Given the description of an element on the screen output the (x, y) to click on. 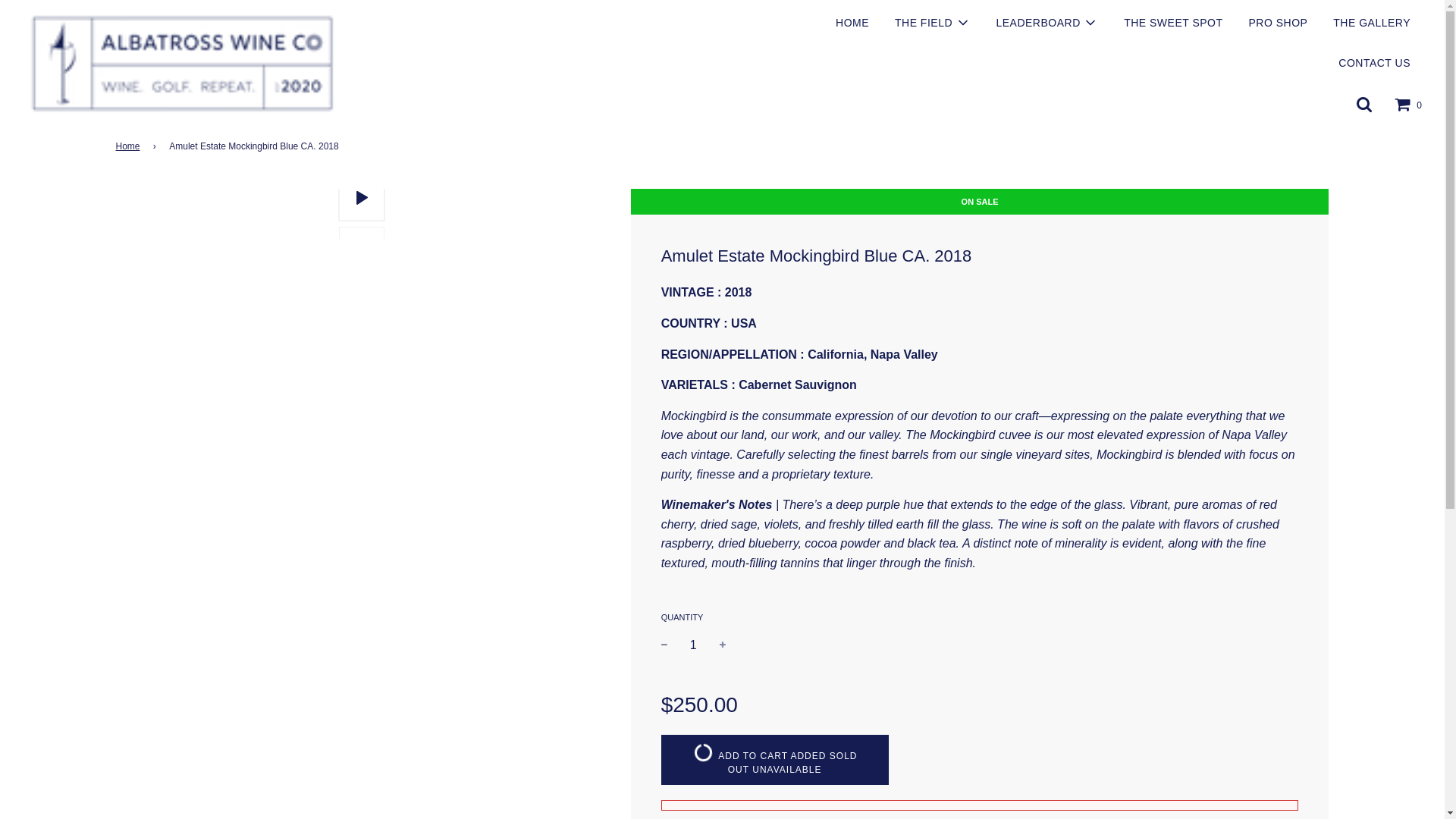
Home (774, 758)
THE GALLERY (129, 146)
THE FIELD (1372, 22)
Back to the frontpage (932, 22)
HOME (129, 146)
CONTACT US (852, 22)
LEADERBOARD (1374, 62)
1 (1046, 22)
PRO SHOP (693, 645)
